Given the description of an element on the screen output the (x, y) to click on. 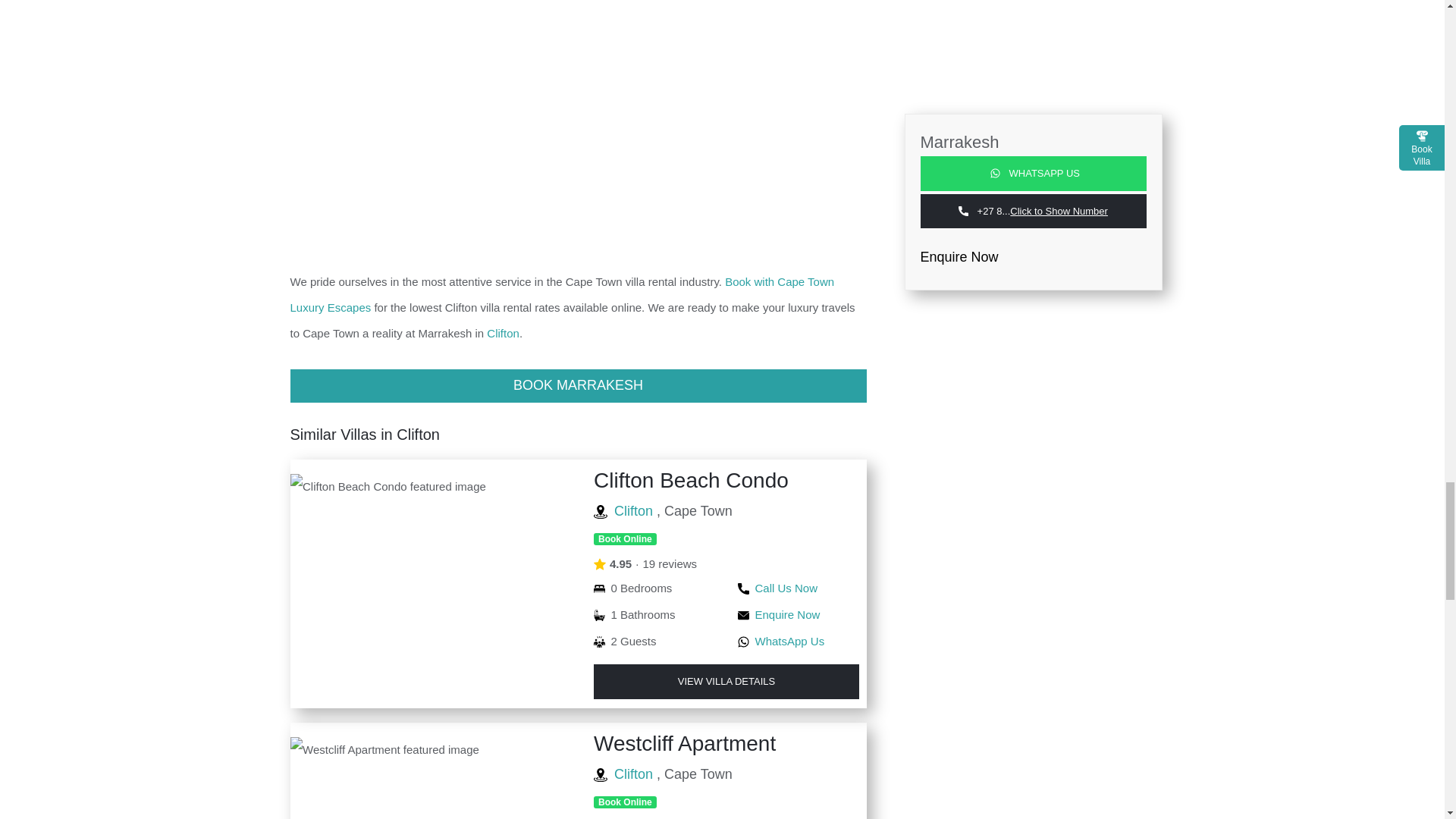
View our available rental villas in Clifton, Cape Town (502, 332)
